Given the description of an element on the screen output the (x, y) to click on. 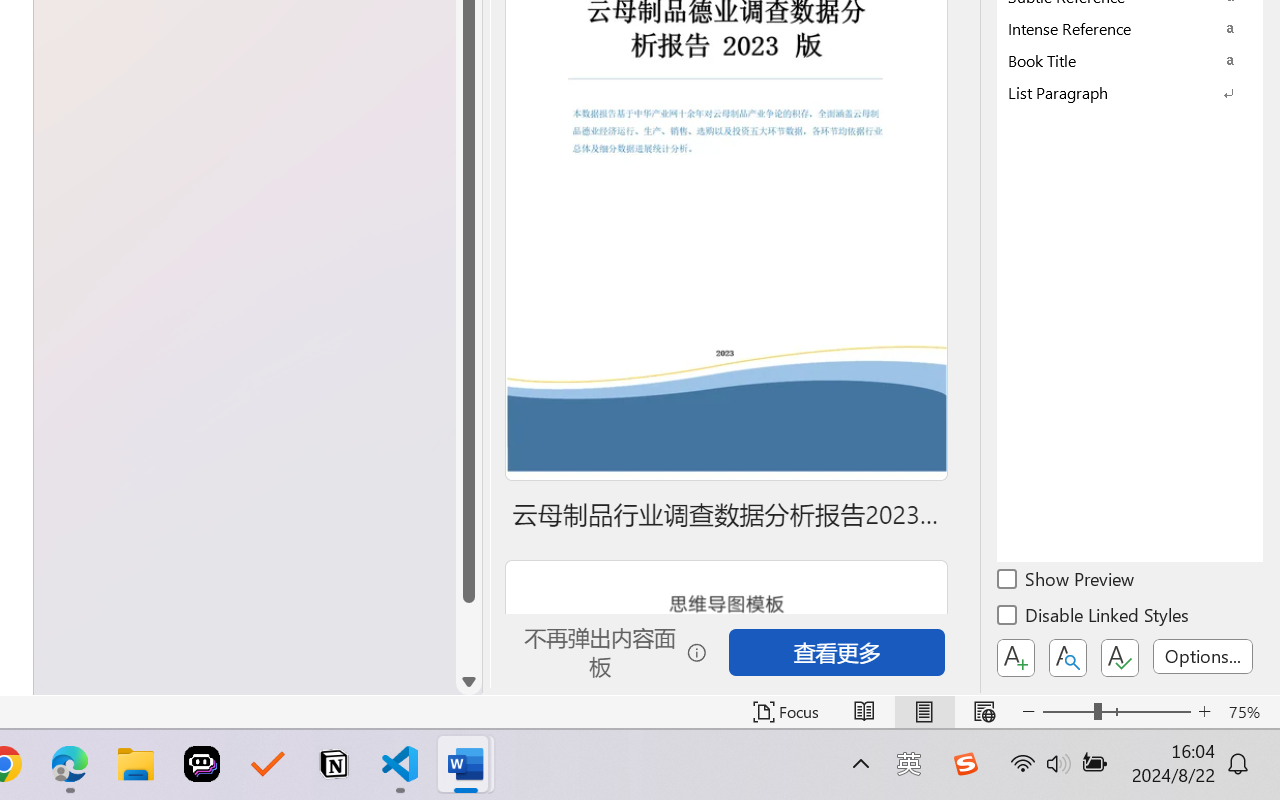
Show Preview (1067, 582)
Intense Reference (1130, 28)
Class: Image (965, 764)
Disable Linked Styles (1094, 618)
Options... (1203, 656)
Web Layout (984, 712)
Line down (468, 681)
Print Layout (924, 712)
Zoom In (1204, 712)
Zoom (1116, 712)
List Paragraph (1130, 92)
Read Mode (864, 712)
Book Title (1130, 60)
